Given the description of an element on the screen output the (x, y) to click on. 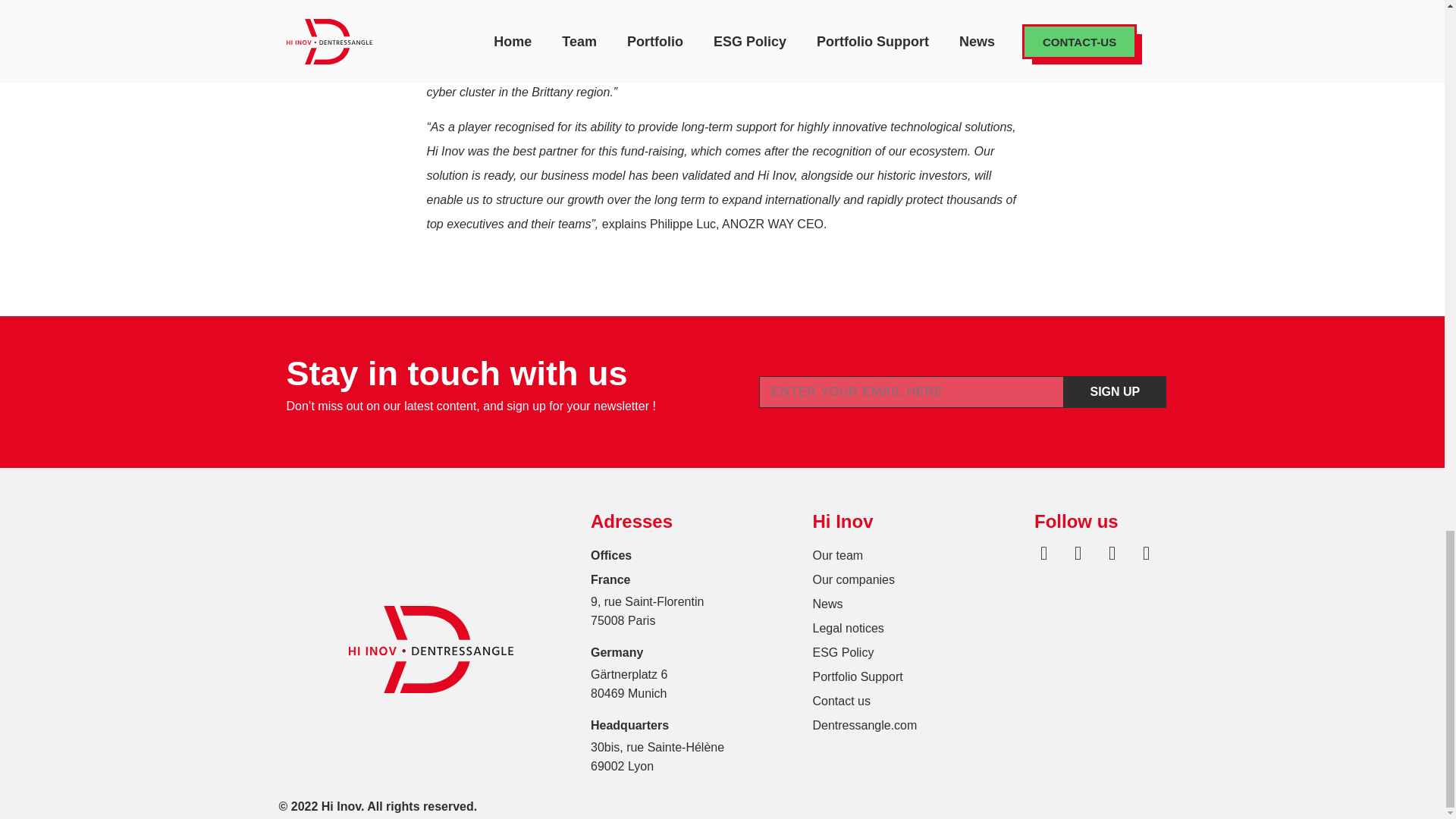
ESG Policy (915, 652)
Sign up (1115, 391)
Portfolio Support (915, 677)
Sign up (1115, 391)
Legal notices (915, 628)
Our companies (915, 580)
Our team (915, 555)
News (915, 604)
